Given the description of an element on the screen output the (x, y) to click on. 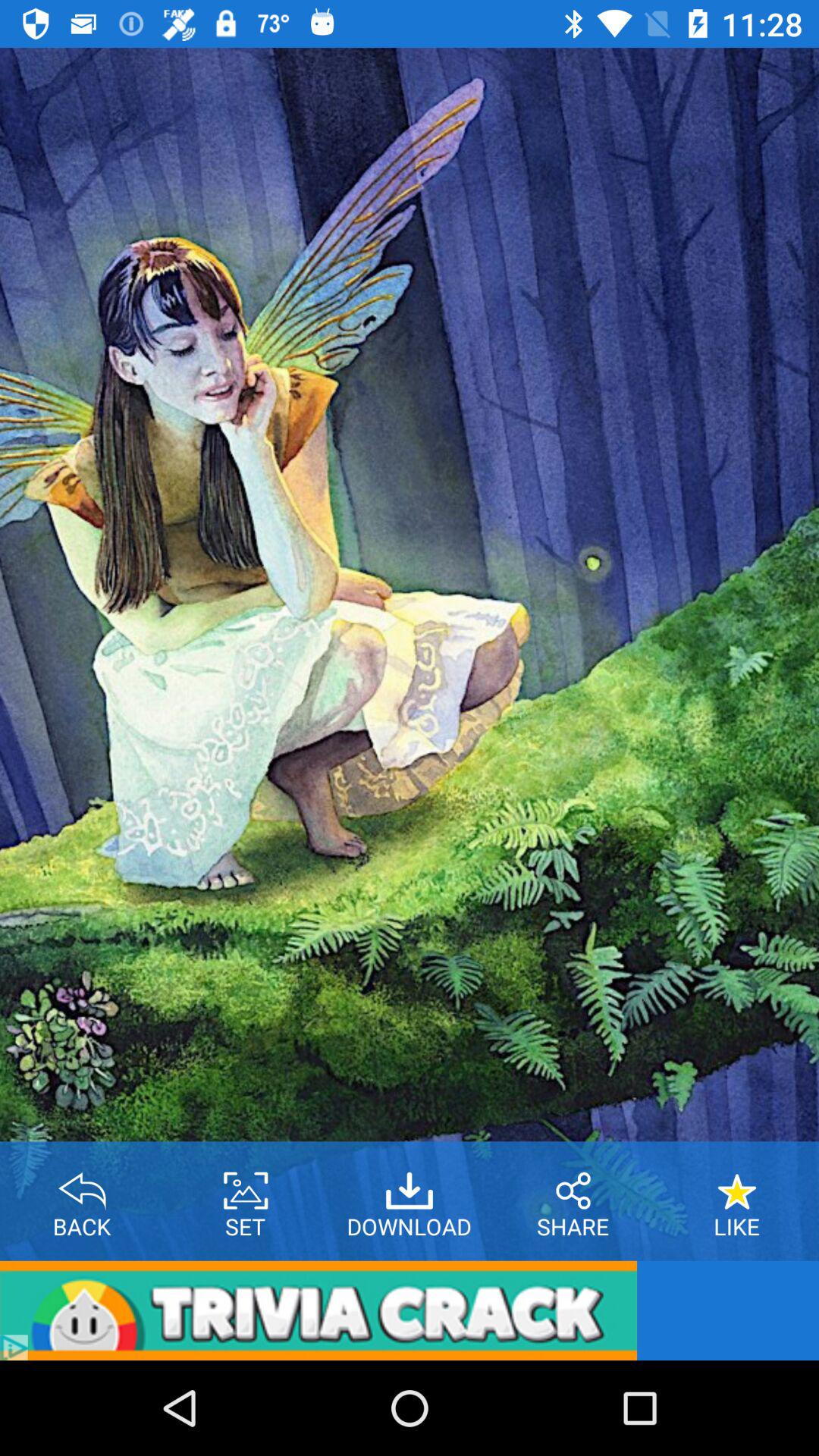
select back button (81, 1185)
